Given the description of an element on the screen output the (x, y) to click on. 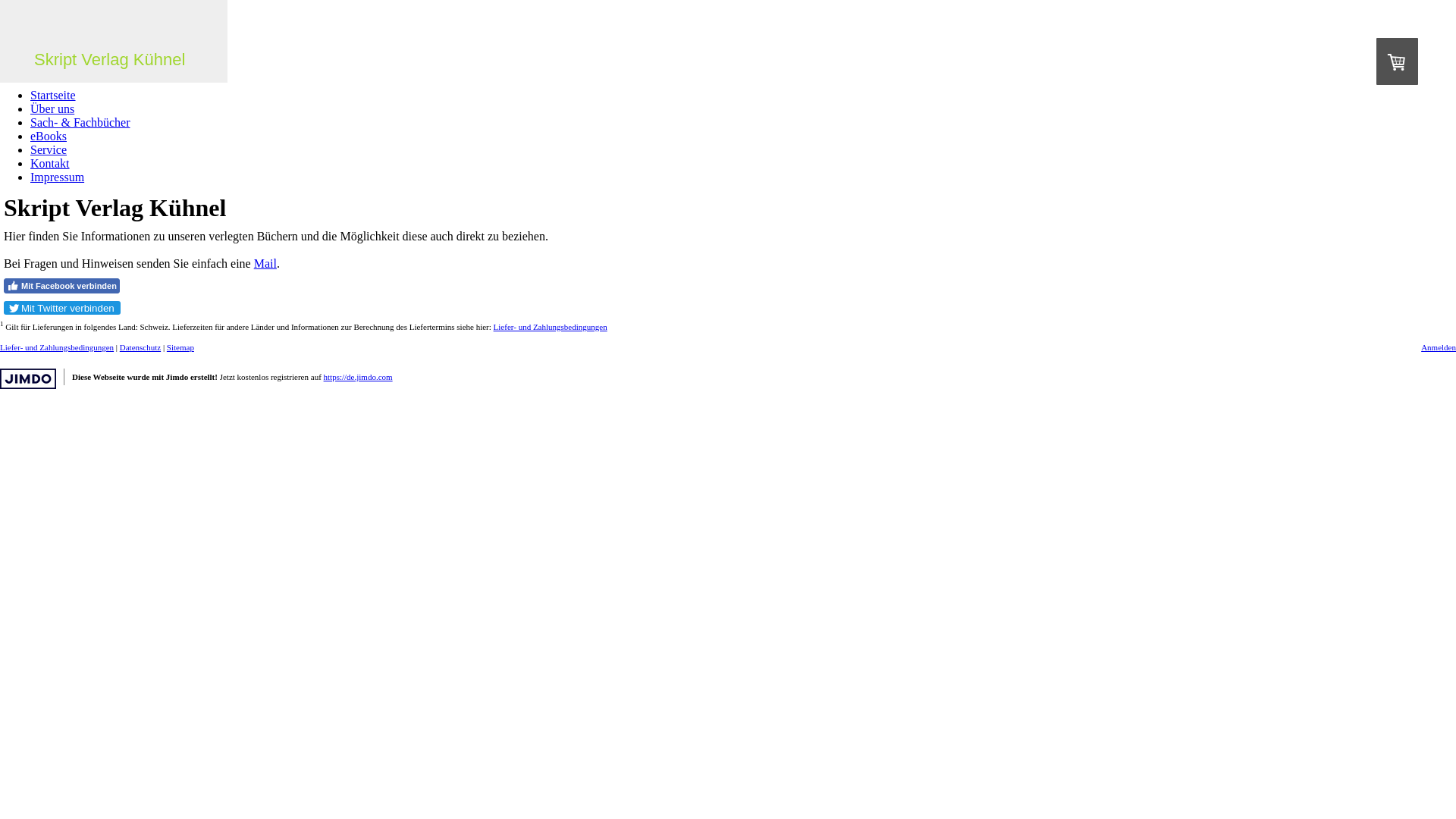
Liefer- und Zahlungsbedingungen Element type: text (550, 326)
Jimdo Element type: text (28, 378)
Service Element type: text (48, 149)
Startseite Element type: text (52, 94)
Mit Twitter verbinden Element type: text (61, 307)
Impressum Element type: text (57, 176)
Kontakt Element type: text (49, 162)
Datenschutz Element type: text (139, 346)
Mit Facebook verbinden Element type: text (61, 285)
eBooks Element type: text (48, 135)
Sitemap Element type: text (180, 346)
Mail Element type: text (265, 263)
Liefer- und Zahlungsbedingungen Element type: text (56, 346)
https://de.jimdo.com Element type: text (357, 376)
